Given the description of an element on the screen output the (x, y) to click on. 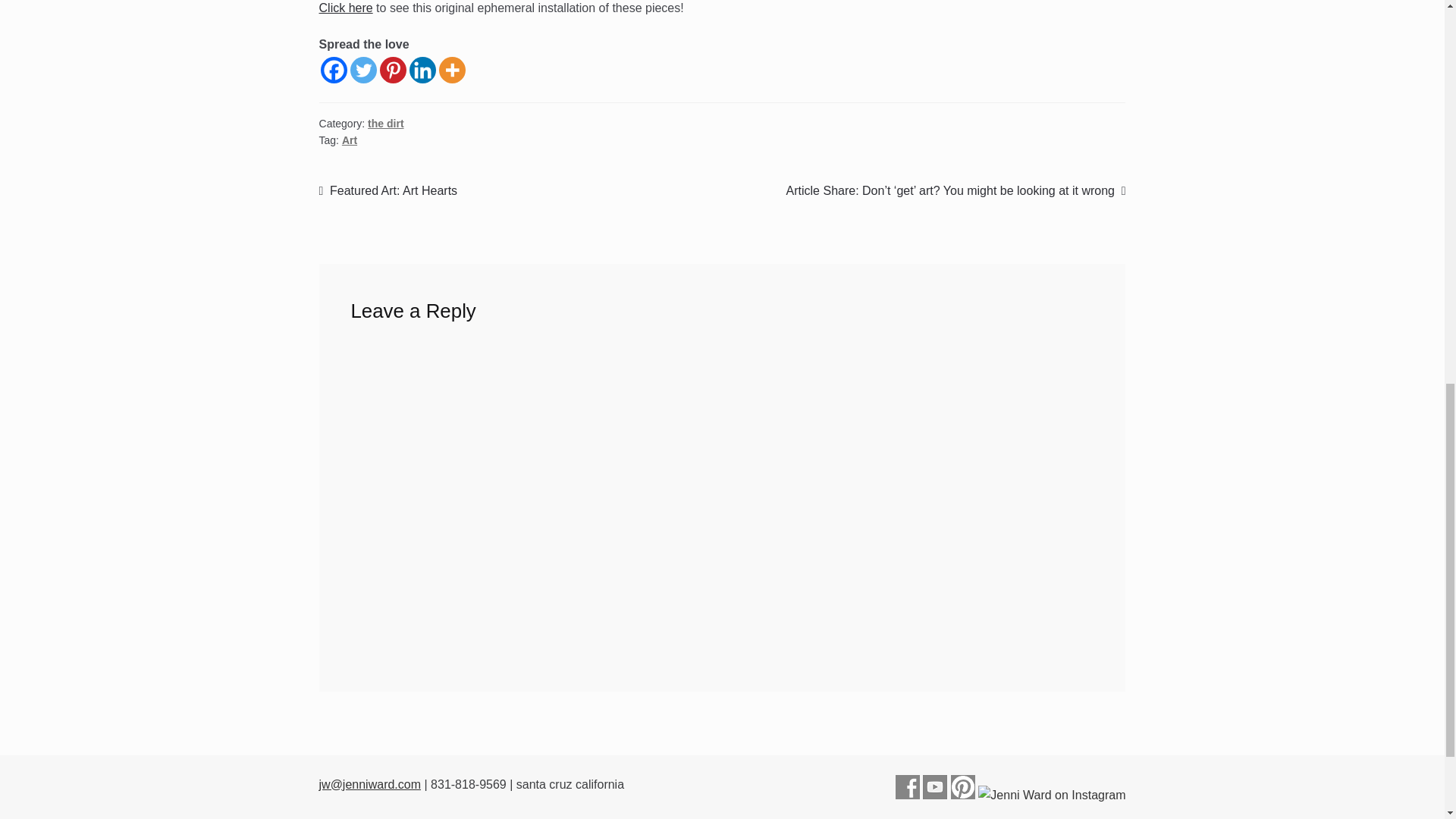
Linkedin (422, 69)
Facebook (333, 69)
Twitter (363, 69)
More (452, 69)
Pinterest (393, 69)
